Given the description of an element on the screen output the (x, y) to click on. 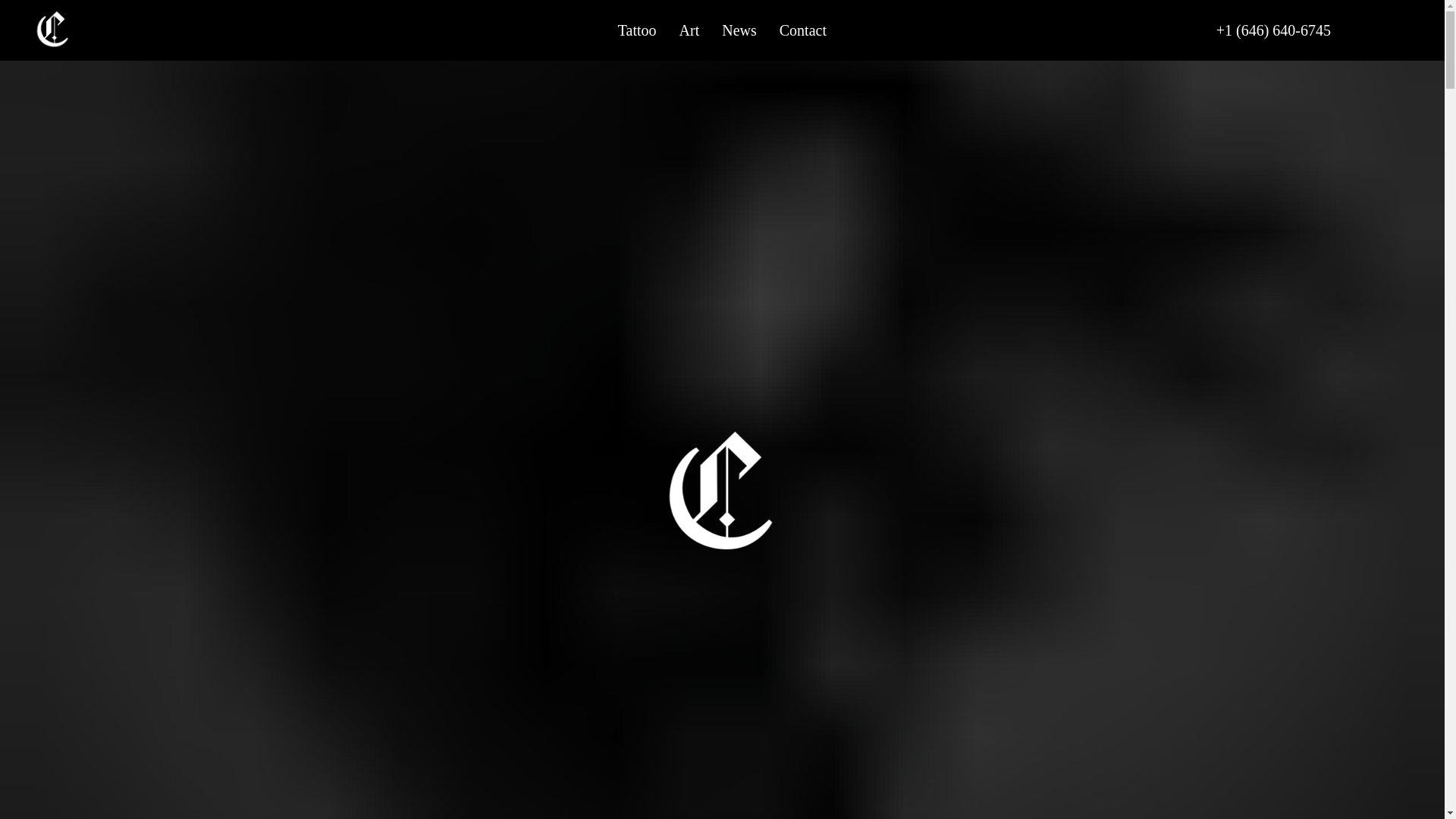
Art (689, 29)
News (739, 29)
Contacts (226, 29)
Contact (802, 29)
Tattoo (636, 29)
Tattoo (50, 29)
Art (103, 29)
Phone (1368, 29)
News (155, 29)
WhatsApp (1398, 29)
